Given the description of an element on the screen output the (x, y) to click on. 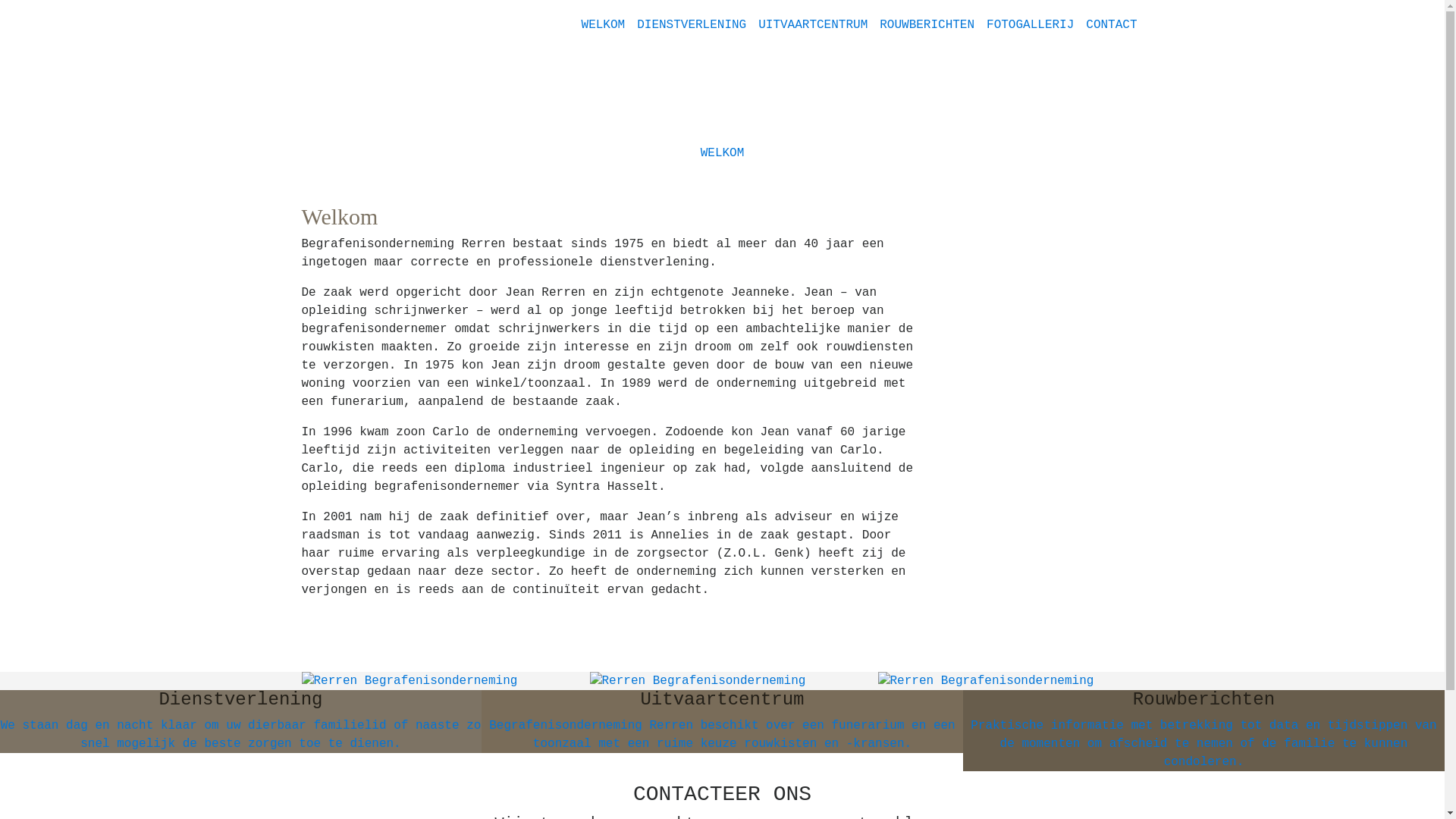
UITVAARTCENTRUM Element type: text (812, 24)
Rerren Begrafenisonderneming Element type: hover (697, 680)
DIENSTVERLENING Element type: text (691, 24)
FOTOGALLERIJ Element type: text (1029, 24)
Rerren Begrafenisonderneming Element type: hover (409, 680)
Rerren Begrafenisonderneming Element type: hover (986, 680)
WELKOM Element type: text (603, 24)
CONTACT Element type: text (1110, 24)
WELKOM Element type: text (722, 152)
ROUWBERICHTEN Element type: text (926, 24)
